Given the description of an element on the screen output the (x, y) to click on. 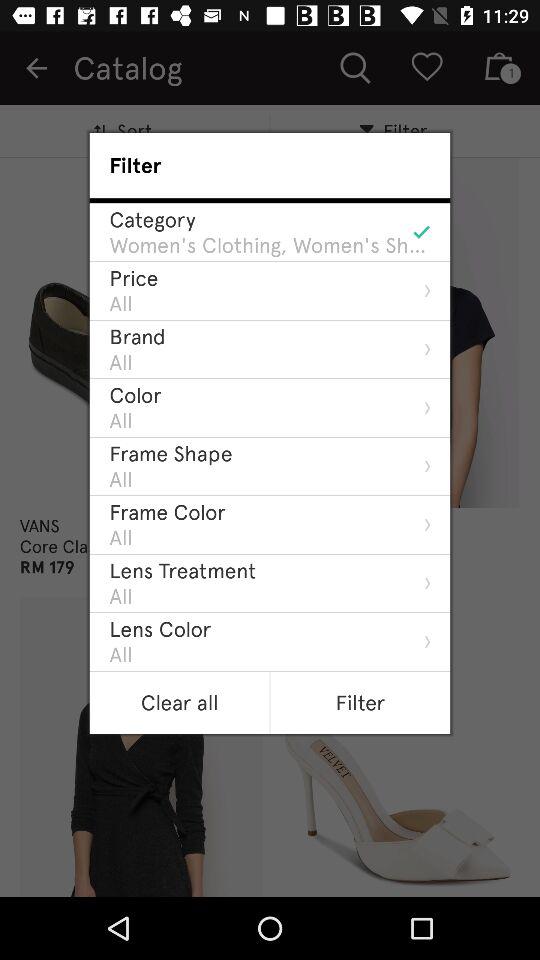
flip to the frame color icon (167, 512)
